Given the description of an element on the screen output the (x, y) to click on. 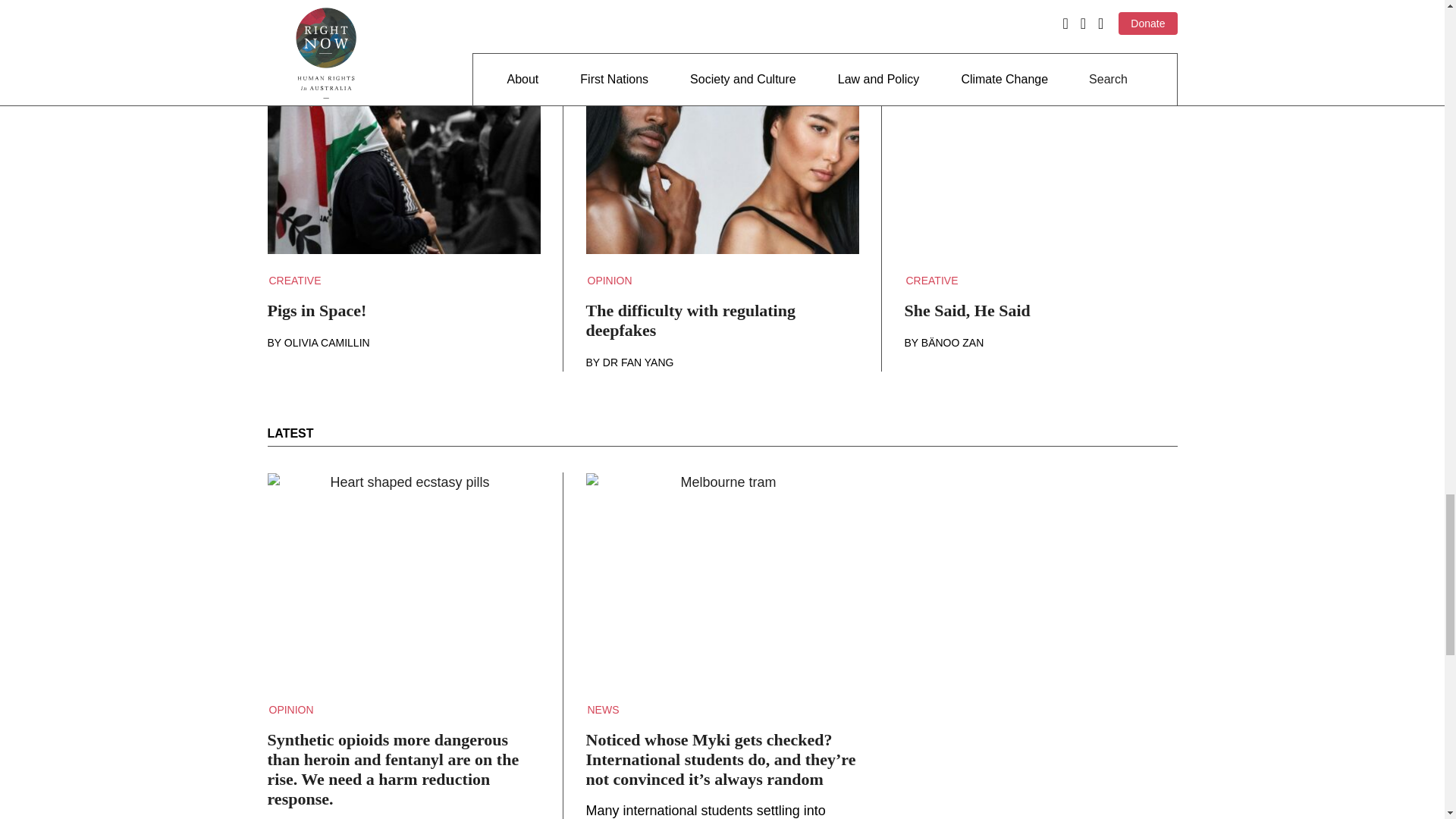
The difficulty with regulating deepfakes (722, 320)
Permalink to Pigs in Space! (403, 157)
OPINION (608, 280)
DR FAN YANG (638, 362)
CREATIVE (931, 280)
OLIVIA CAMILLIN (326, 342)
CREATIVE (293, 280)
Pigs in Space! (403, 311)
Permalink to The difficulty with regulating deepfakes (722, 157)
Permalink to She Said, He Said (1040, 311)
Permalink to Pigs in Space! (403, 311)
Permalink to The difficulty with regulating deepfakes (722, 320)
Permalink to She Said, He Said (1040, 157)
